Given the description of an element on the screen output the (x, y) to click on. 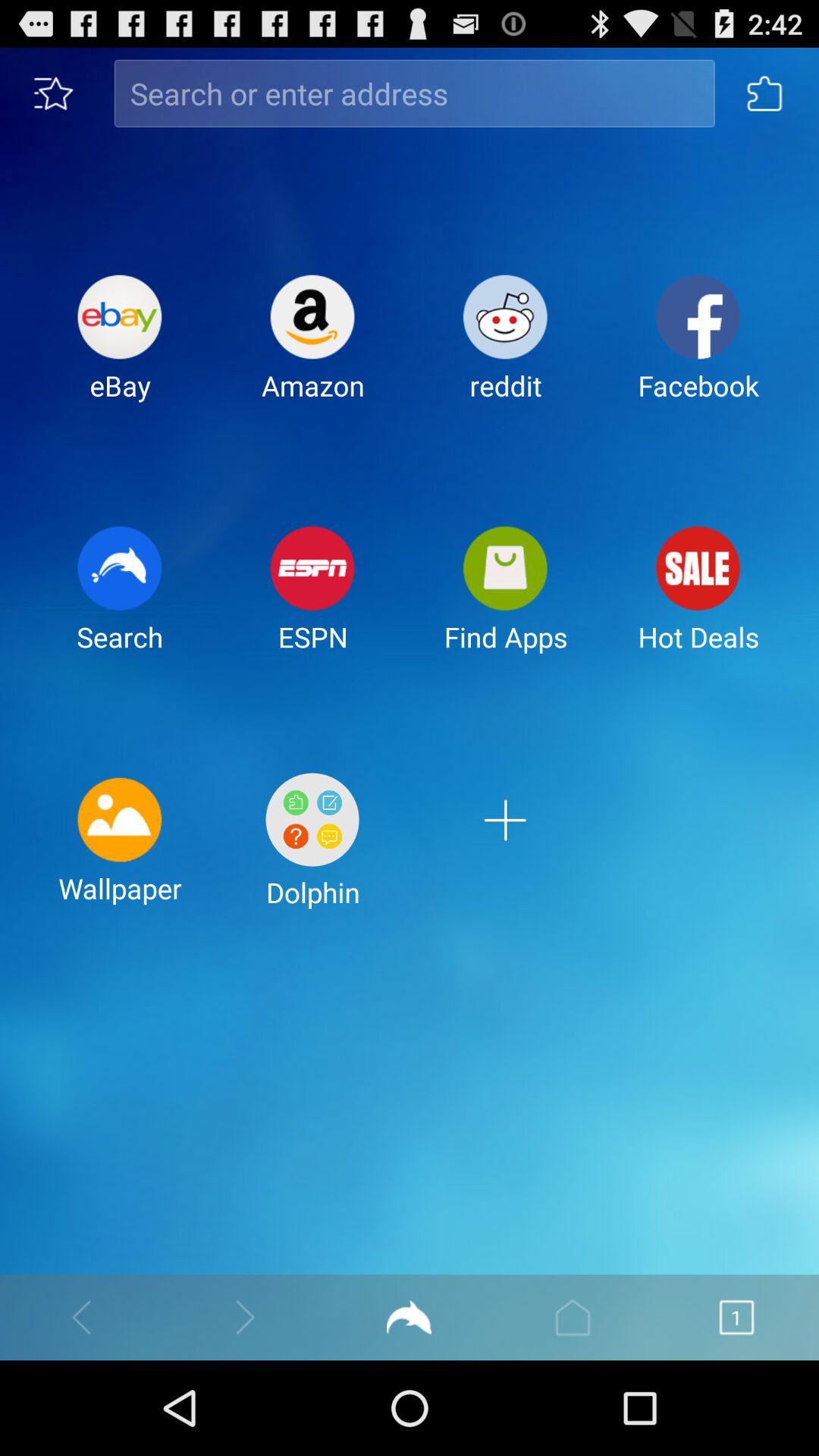
flip to amazon icon (312, 349)
